Given the description of an element on the screen output the (x, y) to click on. 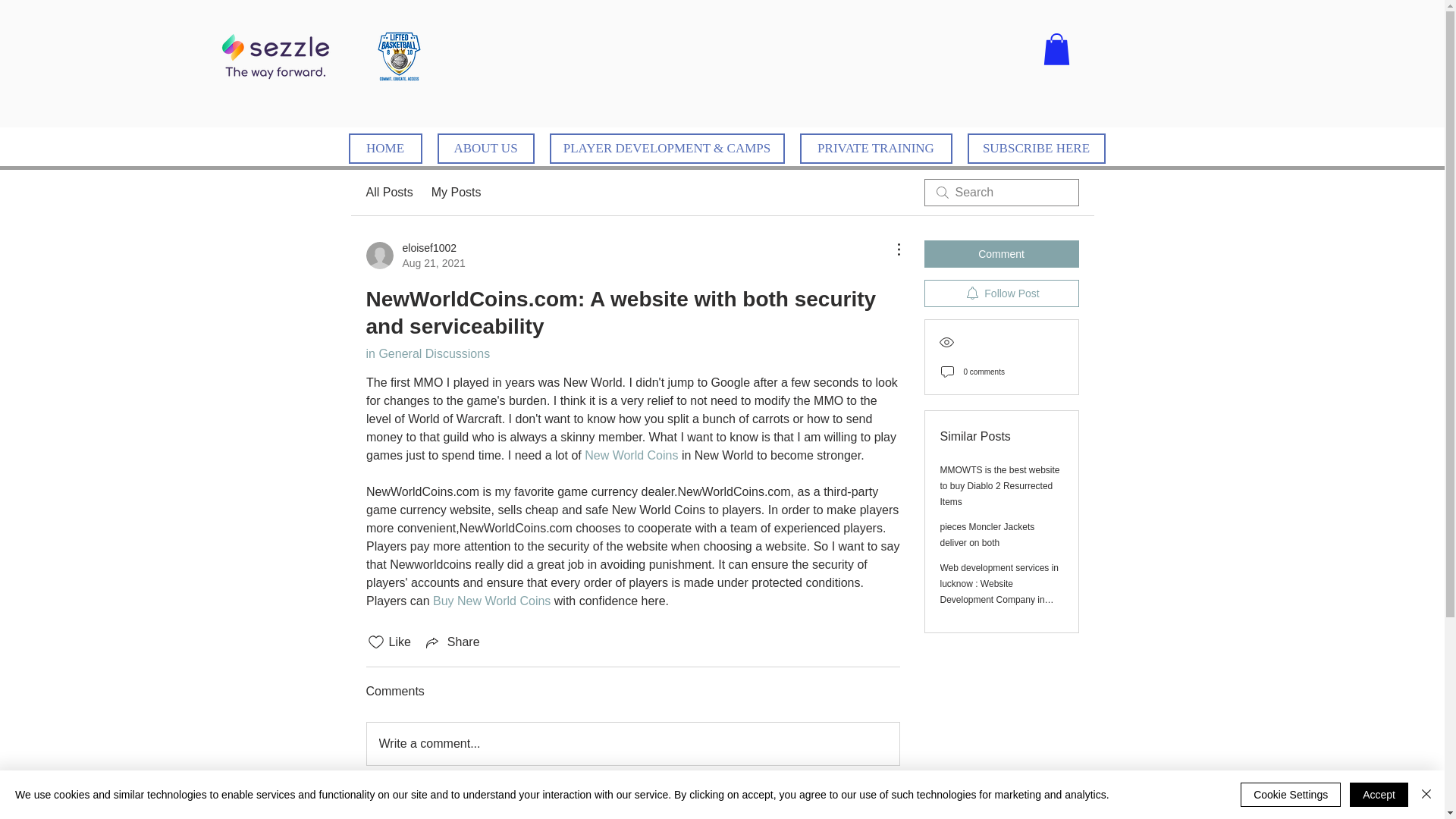
Write a comment... (632, 743)
Share (451, 642)
All Posts (388, 192)
Buy New World Coins (491, 600)
New World Coins (631, 454)
MMOWTS is the best website to buy Diablo 2 Resurrected Items (999, 485)
Comment (1000, 253)
pieces Moncler Jackets deliver on both (987, 534)
My Posts (455, 192)
